Given the description of an element on the screen output the (x, y) to click on. 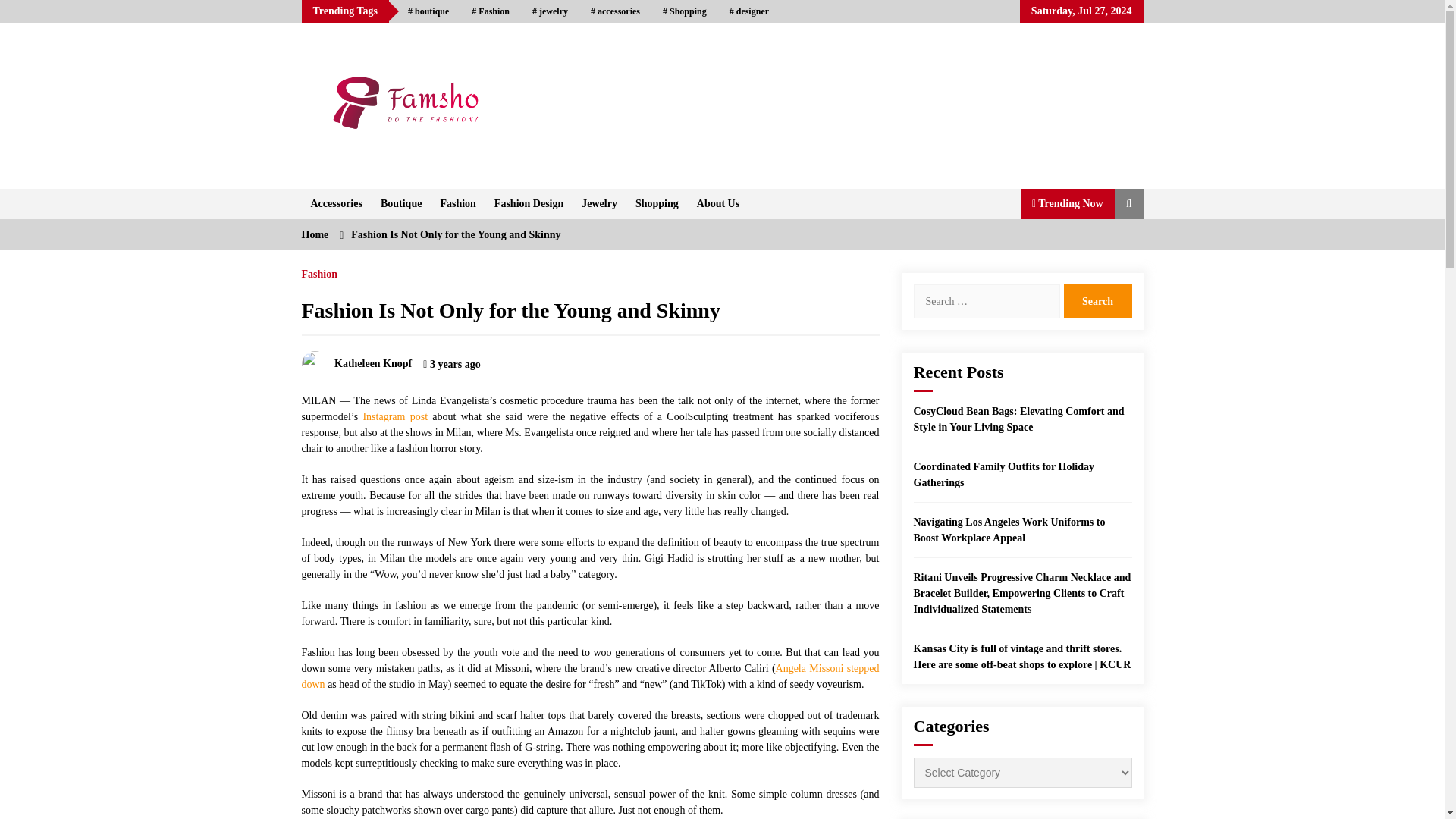
Shopping (683, 11)
Search (1096, 301)
Fashion Design (528, 204)
jewelry (550, 11)
Accessories (336, 204)
designer (748, 11)
About Us (717, 204)
Search (1096, 301)
Fashion (490, 11)
Boutique (400, 204)
boutique (428, 11)
Fashion (457, 204)
Jewelry (599, 204)
Shopping (656, 204)
accessories (614, 11)
